Given the description of an element on the screen output the (x, y) to click on. 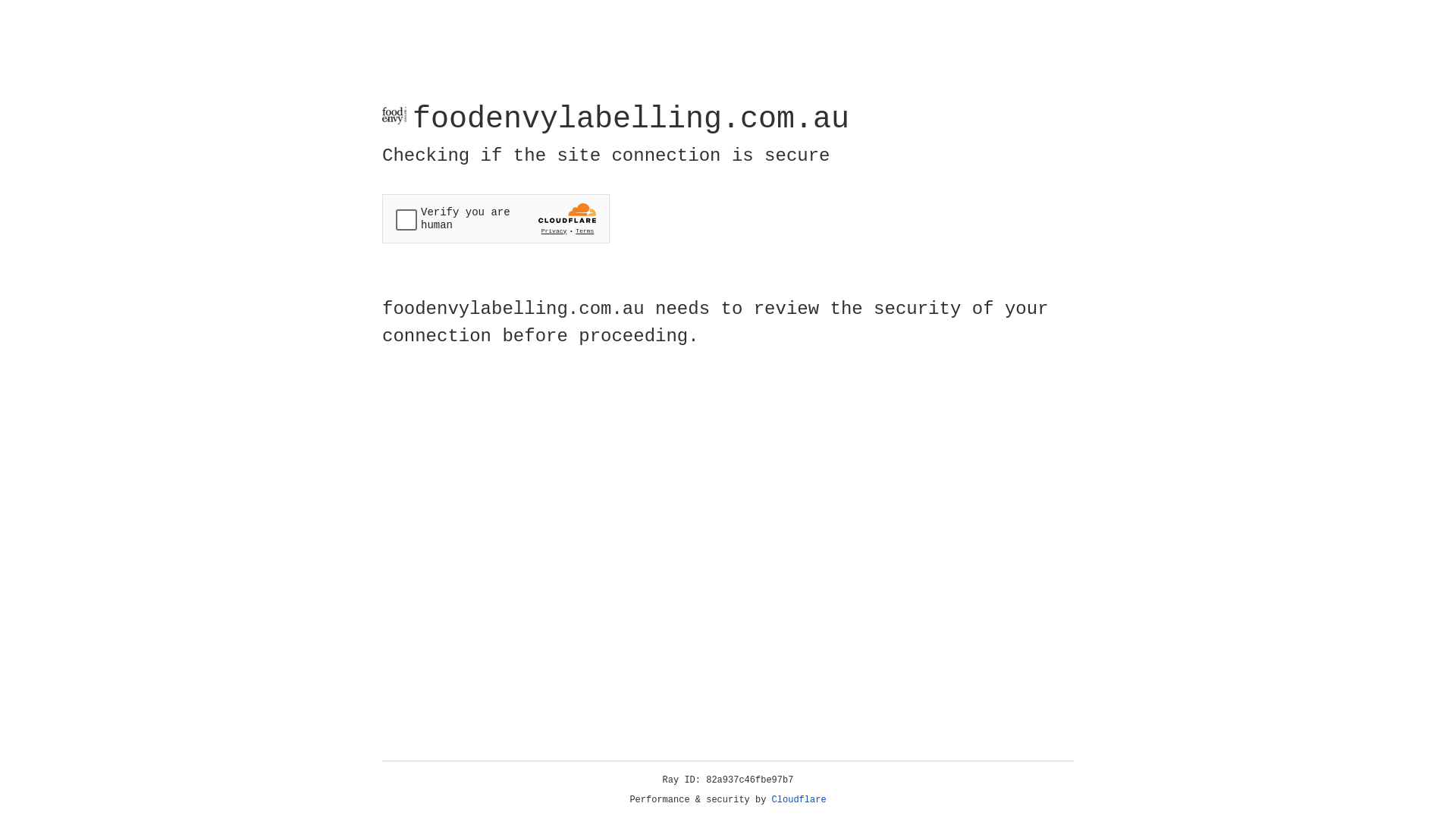
Widget containing a Cloudflare security challenge Element type: hover (495, 218)
Cloudflare Element type: text (798, 799)
